Given the description of an element on the screen output the (x, y) to click on. 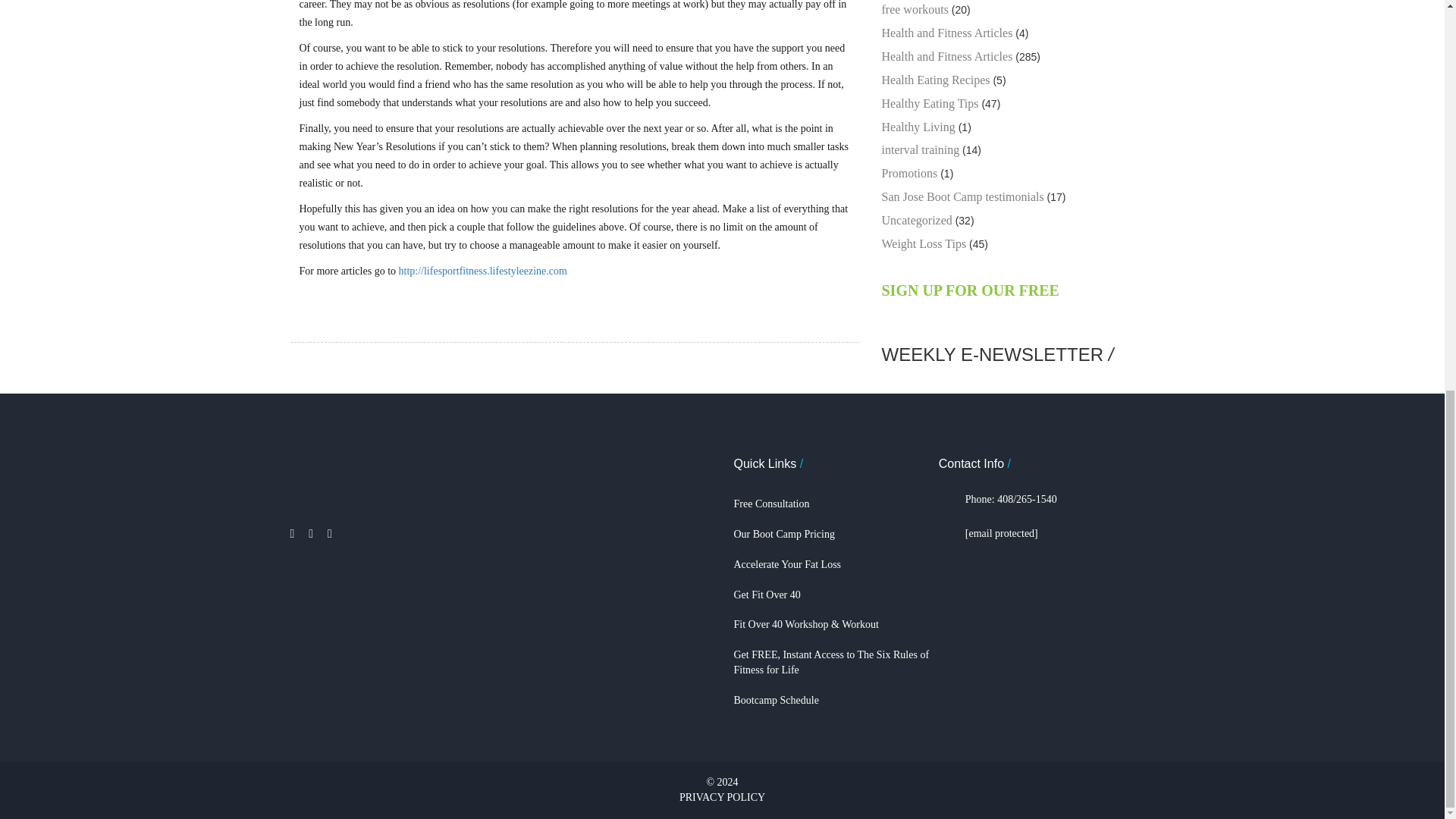
LifeSport Fitness (376, 458)
